Given the description of an element on the screen output the (x, y) to click on. 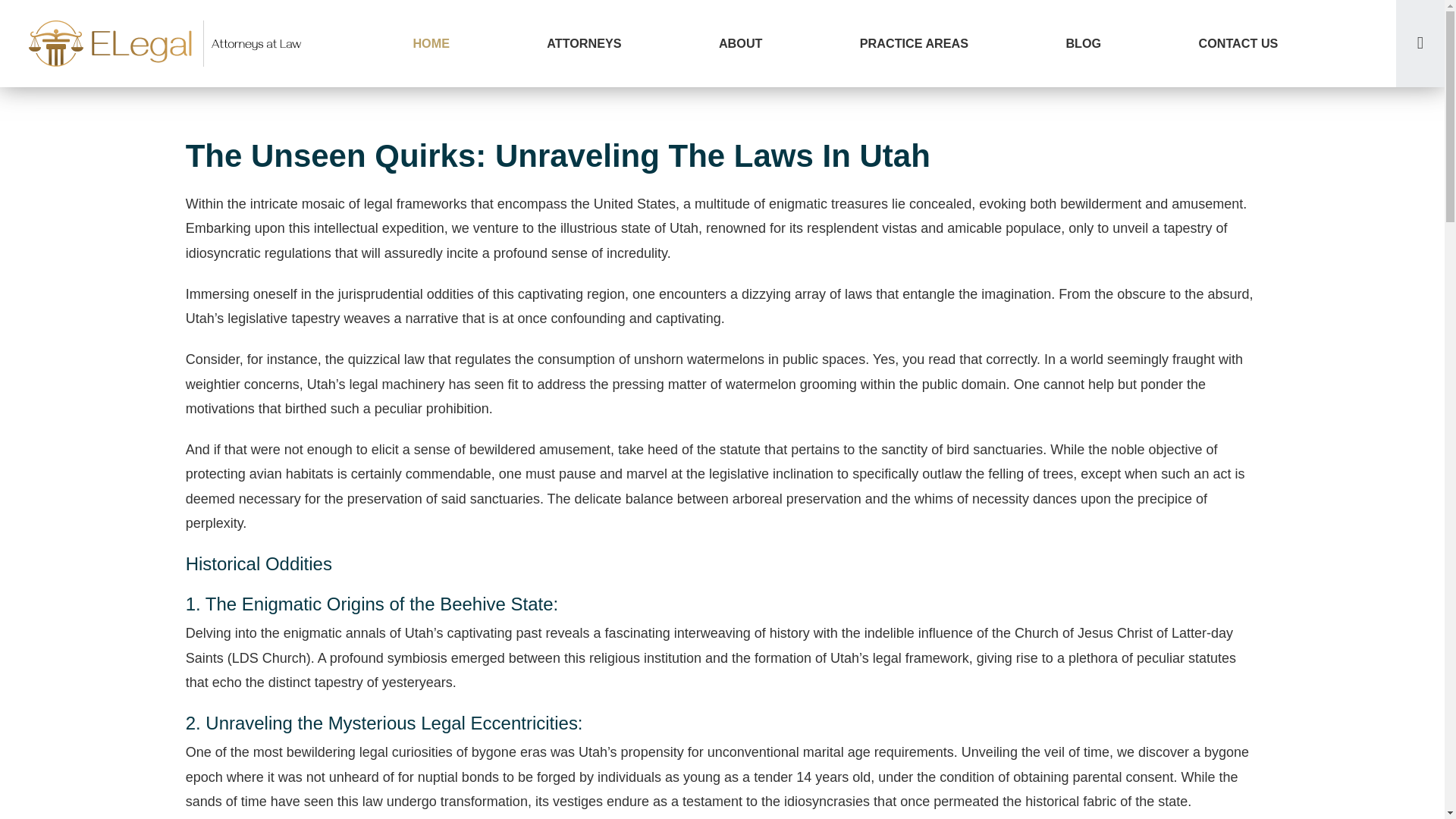
ABOUT (739, 43)
HOME (430, 43)
BLOG (1083, 43)
ATTORNEYS (583, 43)
Elegal (167, 43)
PRACTICE AREAS (913, 43)
